Given the description of an element on the screen output the (x, y) to click on. 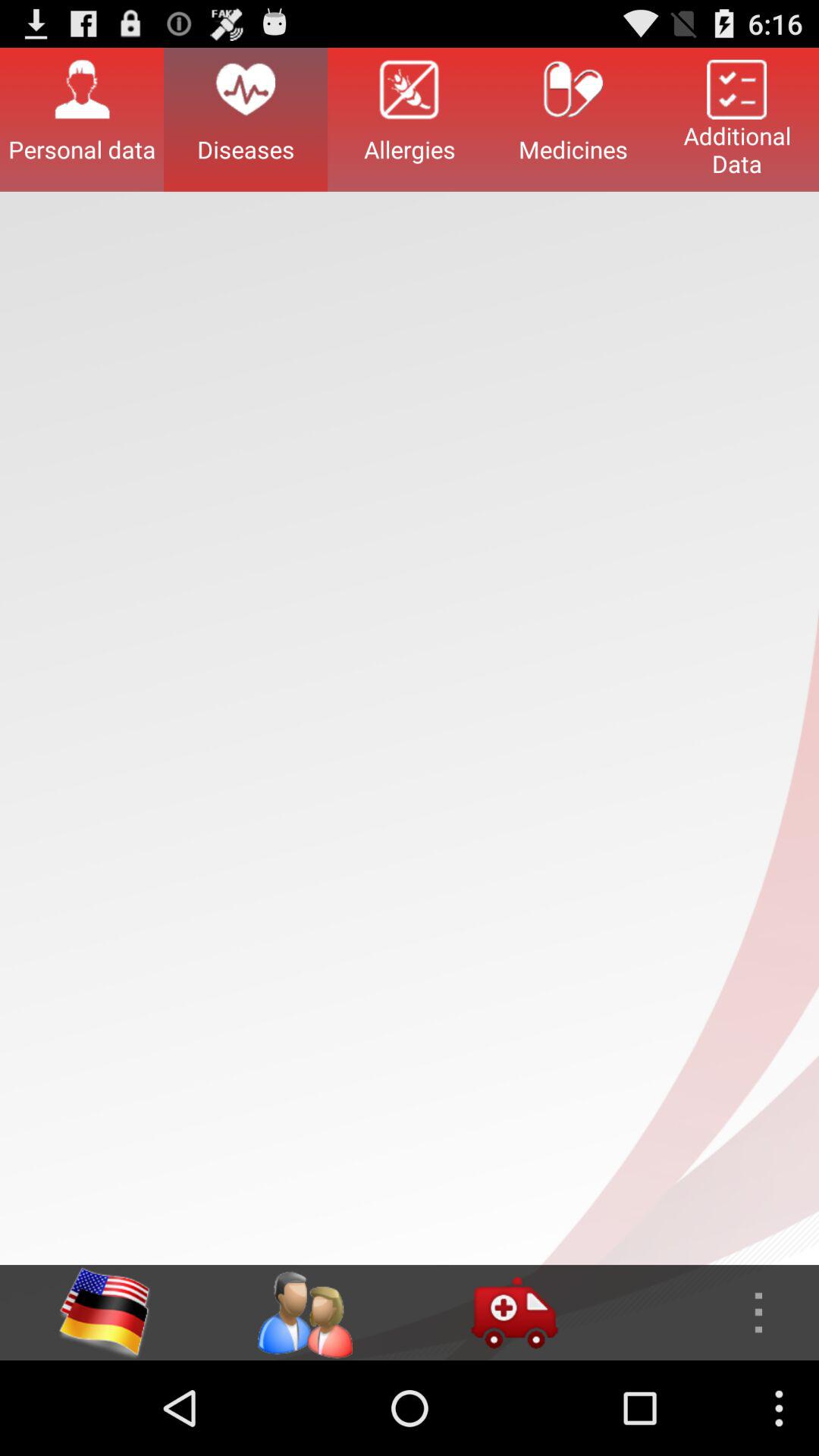
choose diseases item (245, 119)
